Given the description of an element on the screen output the (x, y) to click on. 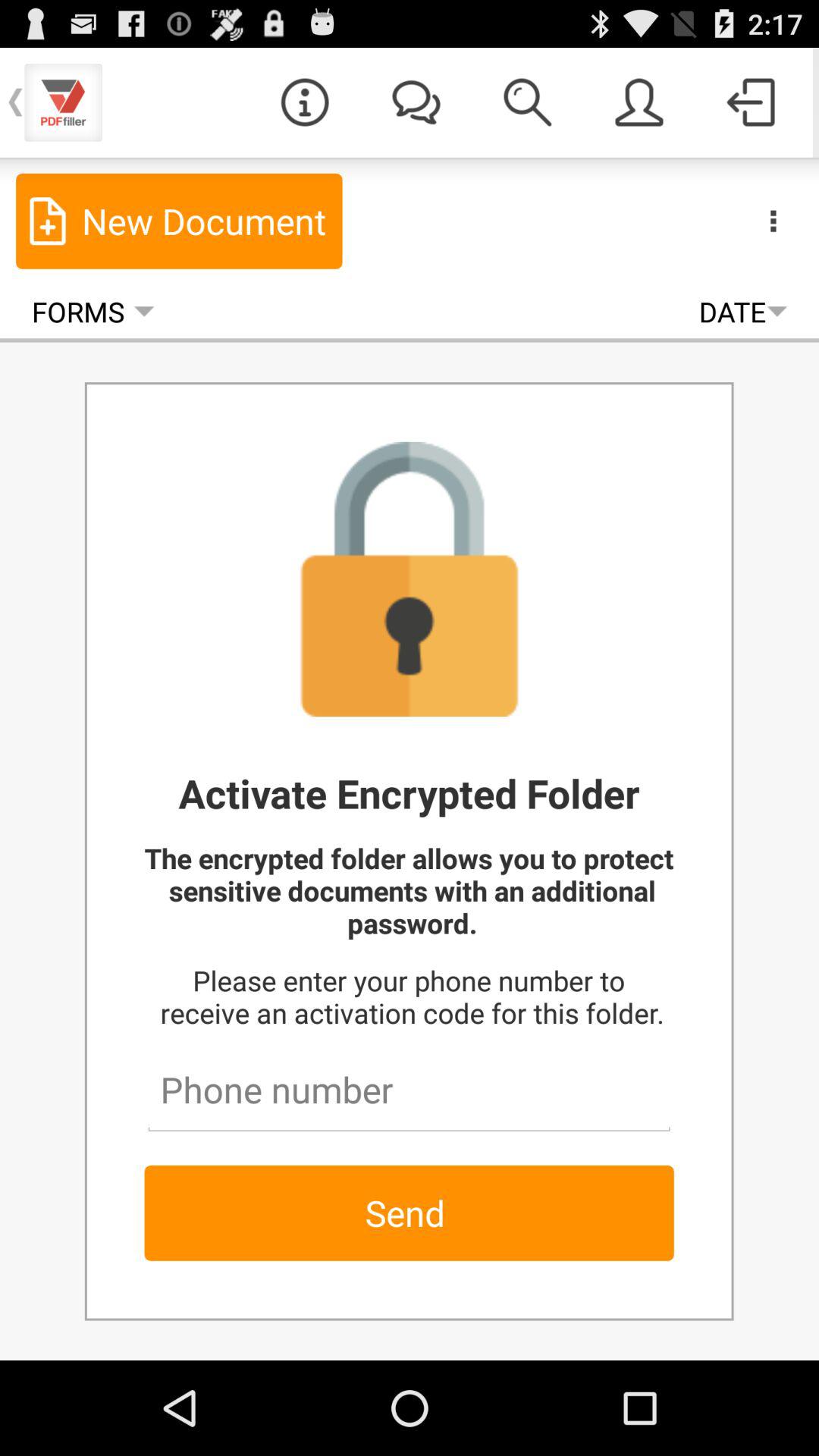
type in phone number to get activation code (408, 1083)
